Given the description of an element on the screen output the (x, y) to click on. 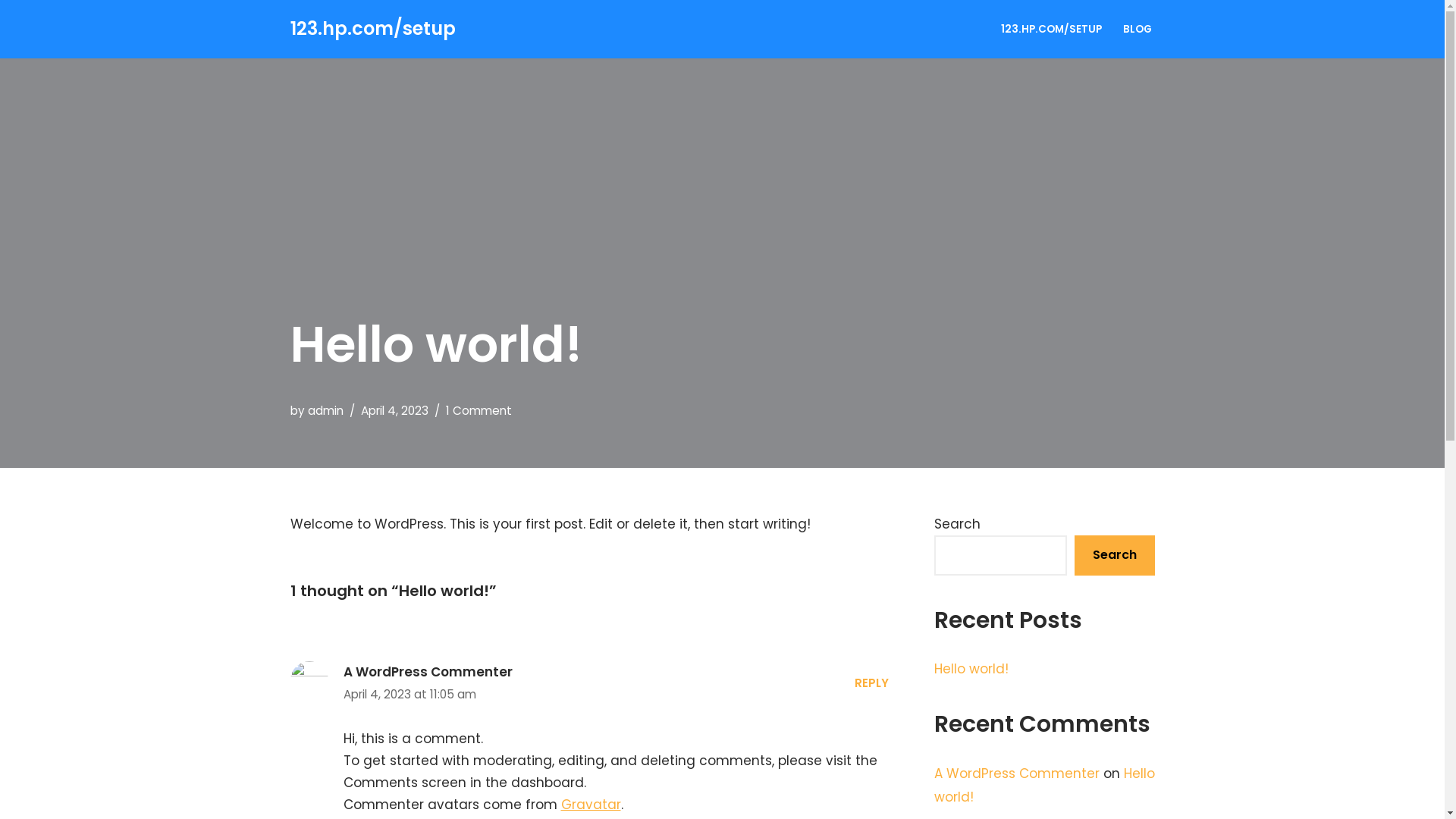
Skip to content Element type: text (11, 31)
Search Element type: text (1113, 555)
Hello world! Element type: text (971, 668)
Gravatar Element type: text (591, 804)
REPLY Element type: text (870, 682)
A WordPress Commenter Element type: text (1016, 773)
Hello world! Element type: text (1044, 785)
A WordPress Commenter Element type: text (426, 671)
April 4, 2023 at 11:05 am Element type: text (426, 694)
123.HP.COM/SETUP Element type: text (1051, 28)
1 Comment Element type: text (478, 410)
admin Element type: text (325, 410)
123.hp.com/setup Element type: text (372, 28)
BLOG Element type: text (1136, 28)
